Given the description of an element on the screen output the (x, y) to click on. 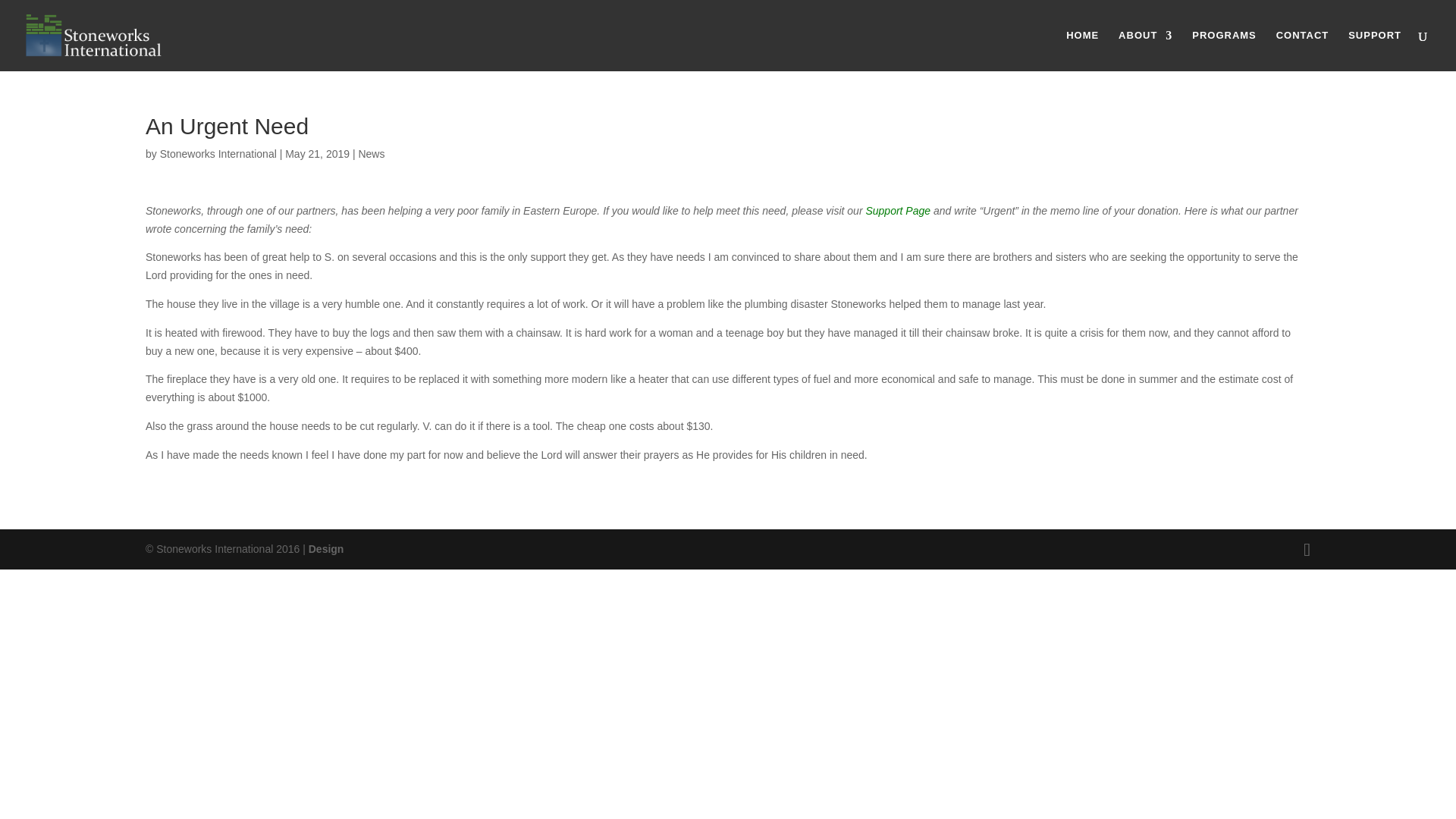
PROGRAMS (1224, 50)
News (371, 153)
Posts by Stoneworks International (218, 153)
CONTACT (1302, 50)
Support Page (897, 210)
Stoneworks International (218, 153)
SUPPORT (1374, 50)
ABOUT (1145, 50)
Design (325, 548)
